Given the description of an element on the screen output the (x, y) to click on. 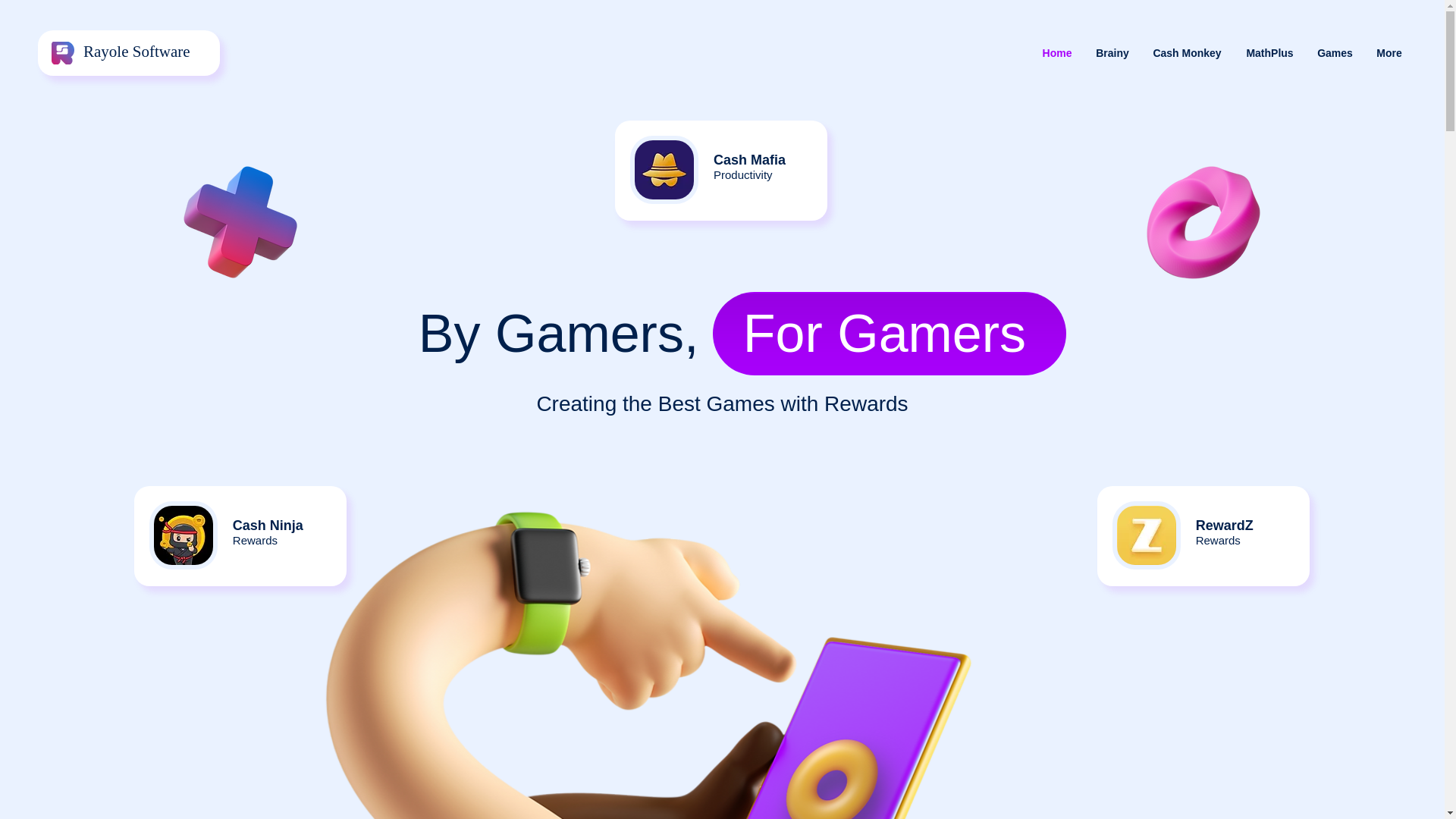
Cash Mafia (749, 159)
Rayole Software (136, 51)
Cash Monkey (1186, 53)
Cash Ninja (267, 525)
Brainy (1112, 53)
RewardZ (1224, 525)
Home (1056, 53)
MathPlus (1269, 53)
